Given the description of an element on the screen output the (x, y) to click on. 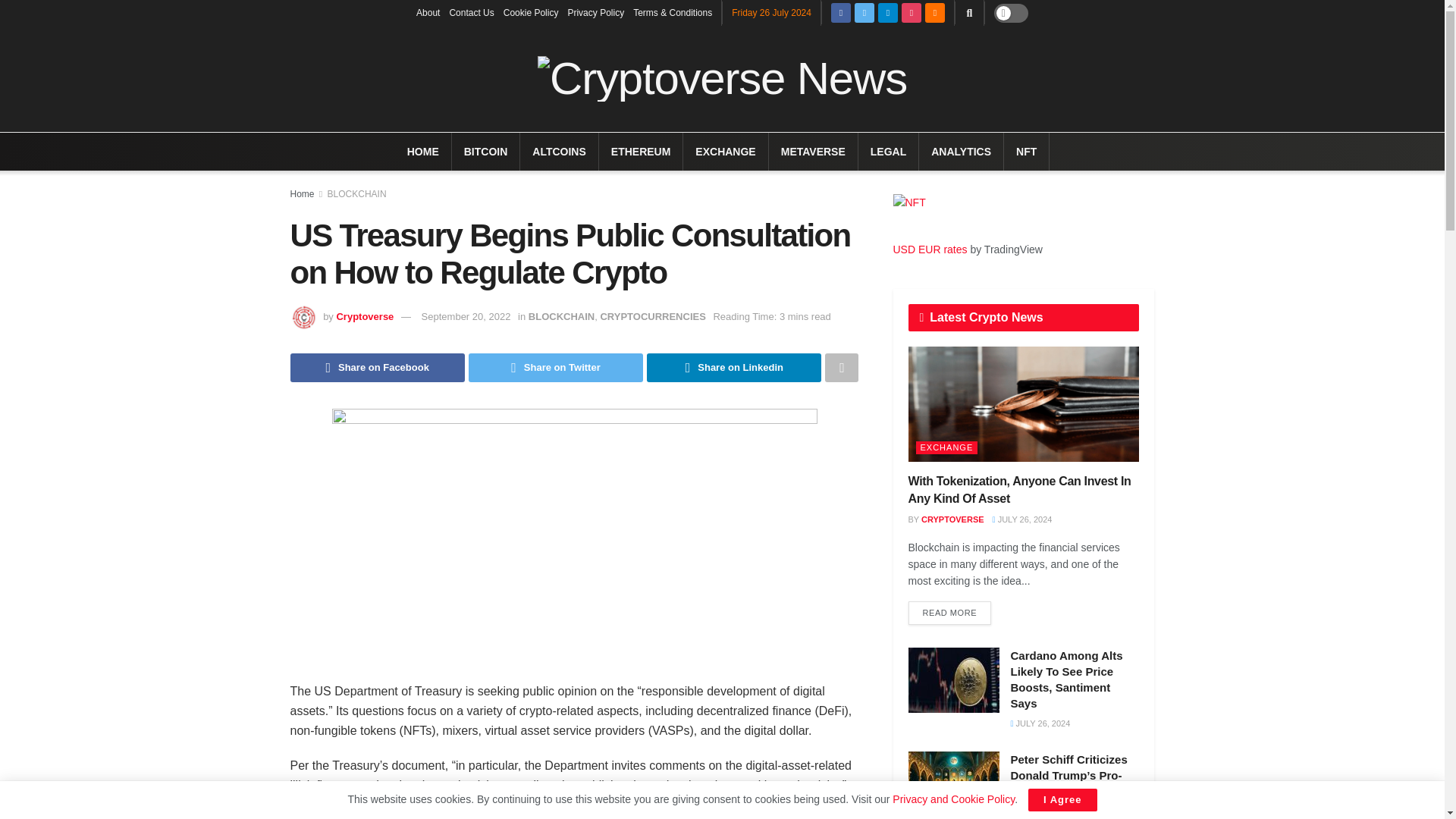
Cryptoverse (364, 316)
BITCOIN (486, 151)
Home (301, 194)
NFT (1026, 151)
About (427, 12)
HOME (423, 151)
LEGAL (887, 151)
BLOCKCHAIN (357, 194)
Cookie Policy (531, 12)
Contact Us (470, 12)
Privacy Policy (595, 12)
EXCHANGE (725, 151)
ETHEREUM (641, 151)
METAVERSE (812, 151)
ALTCOINS (559, 151)
